Given the description of an element on the screen output the (x, y) to click on. 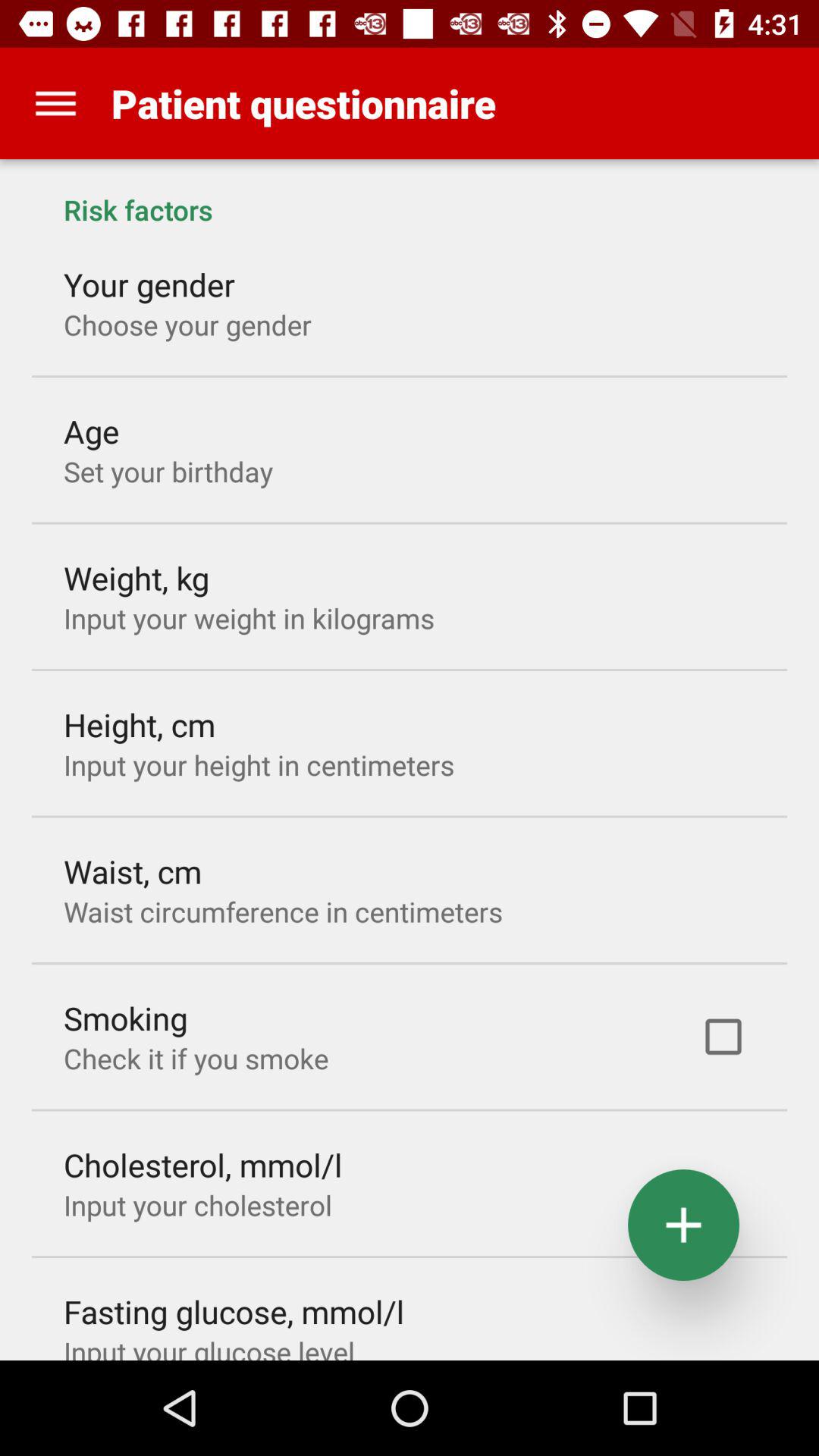
tap the item above input your glucose item (233, 1311)
